Given the description of an element on the screen output the (x, y) to click on. 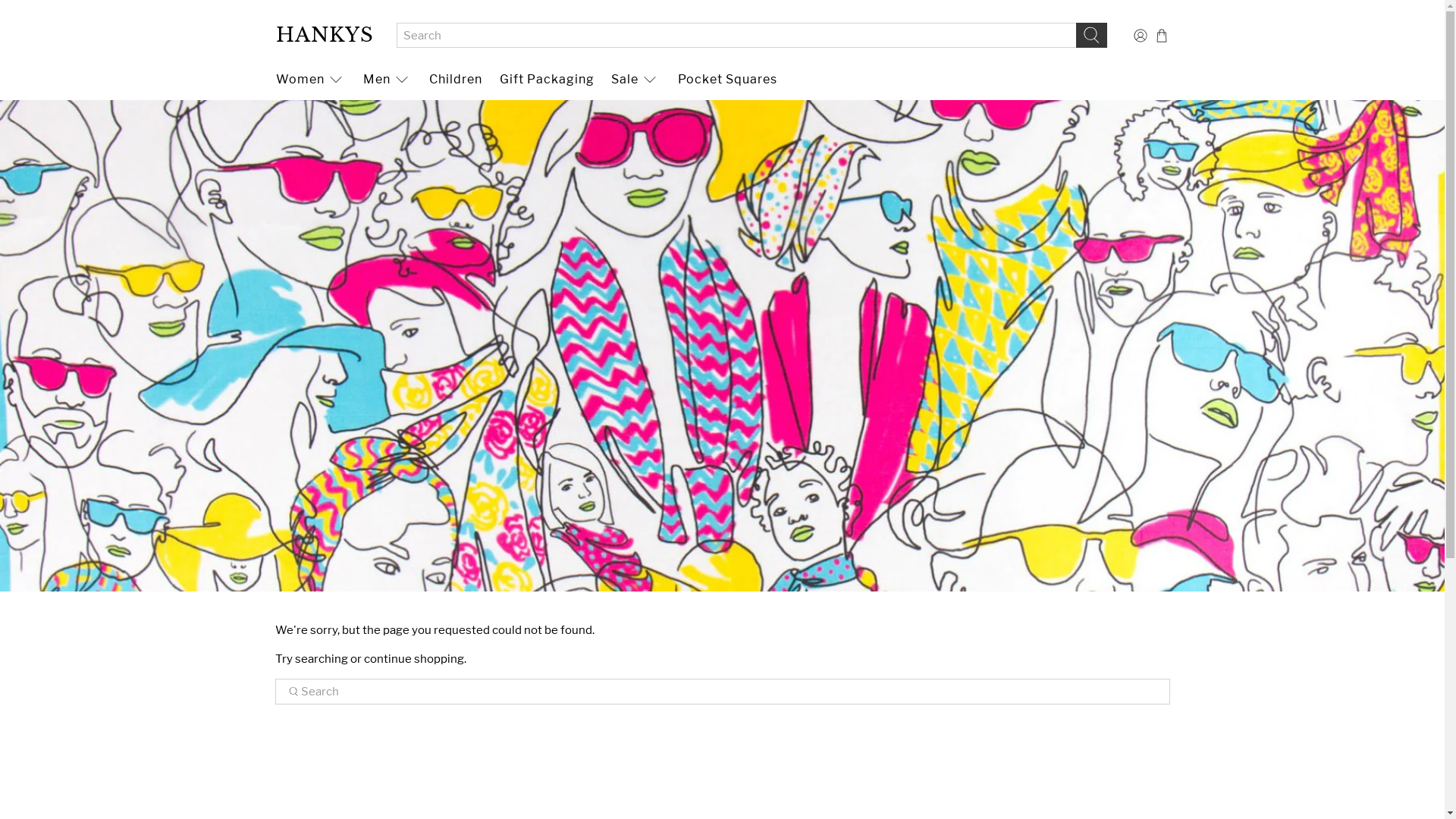
Children Element type: text (455, 79)
Men Element type: text (387, 79)
Gift Packaging Element type: text (547, 79)
Pocket Squares Element type: text (726, 79)
HANKYS Element type: text (324, 34)
continue shopping Element type: text (414, 658)
Sale Element type: text (635, 79)
Women Element type: text (310, 79)
